Given the description of an element on the screen output the (x, y) to click on. 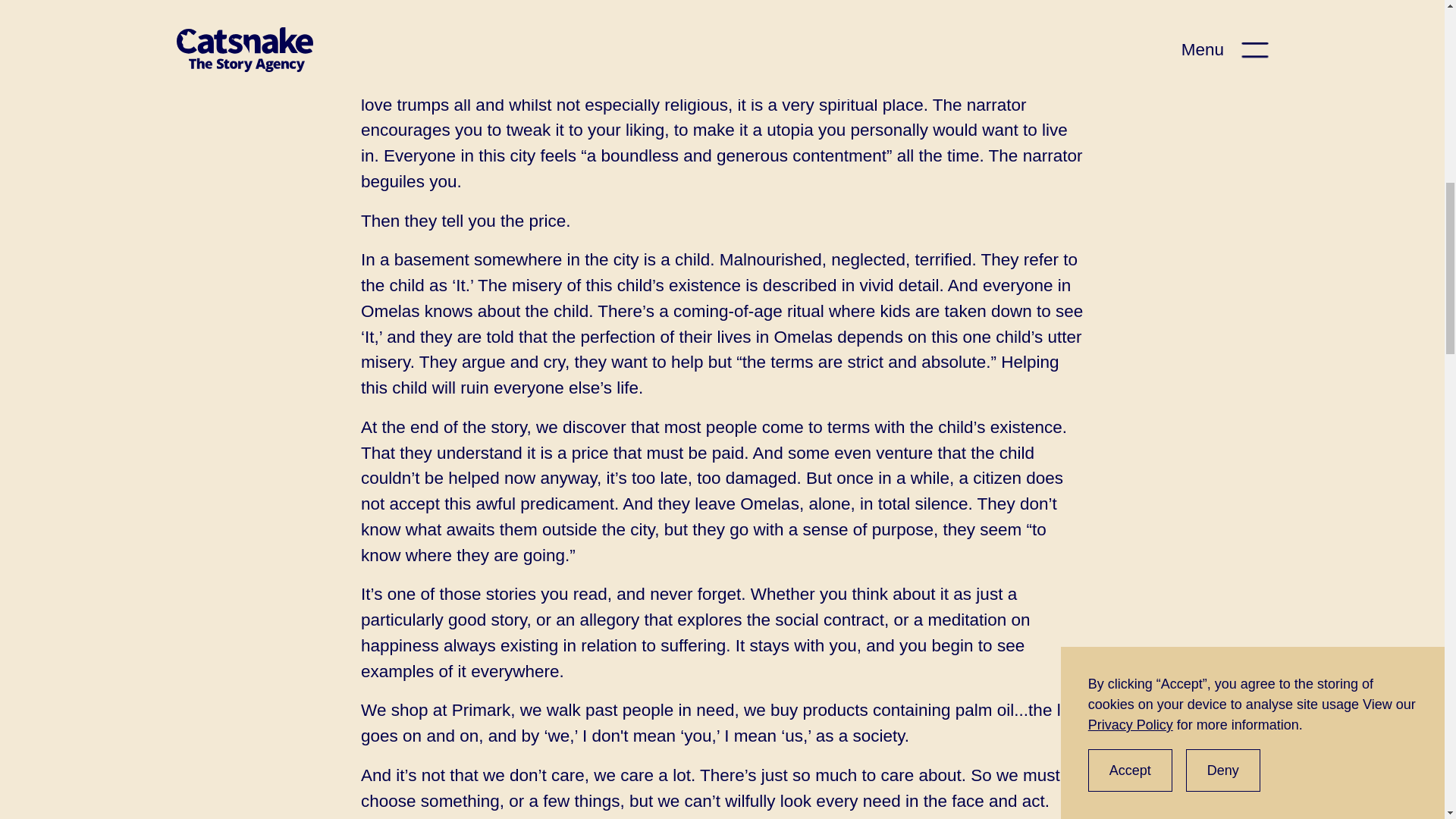
here (456, 13)
